Given the description of an element on the screen output the (x, y) to click on. 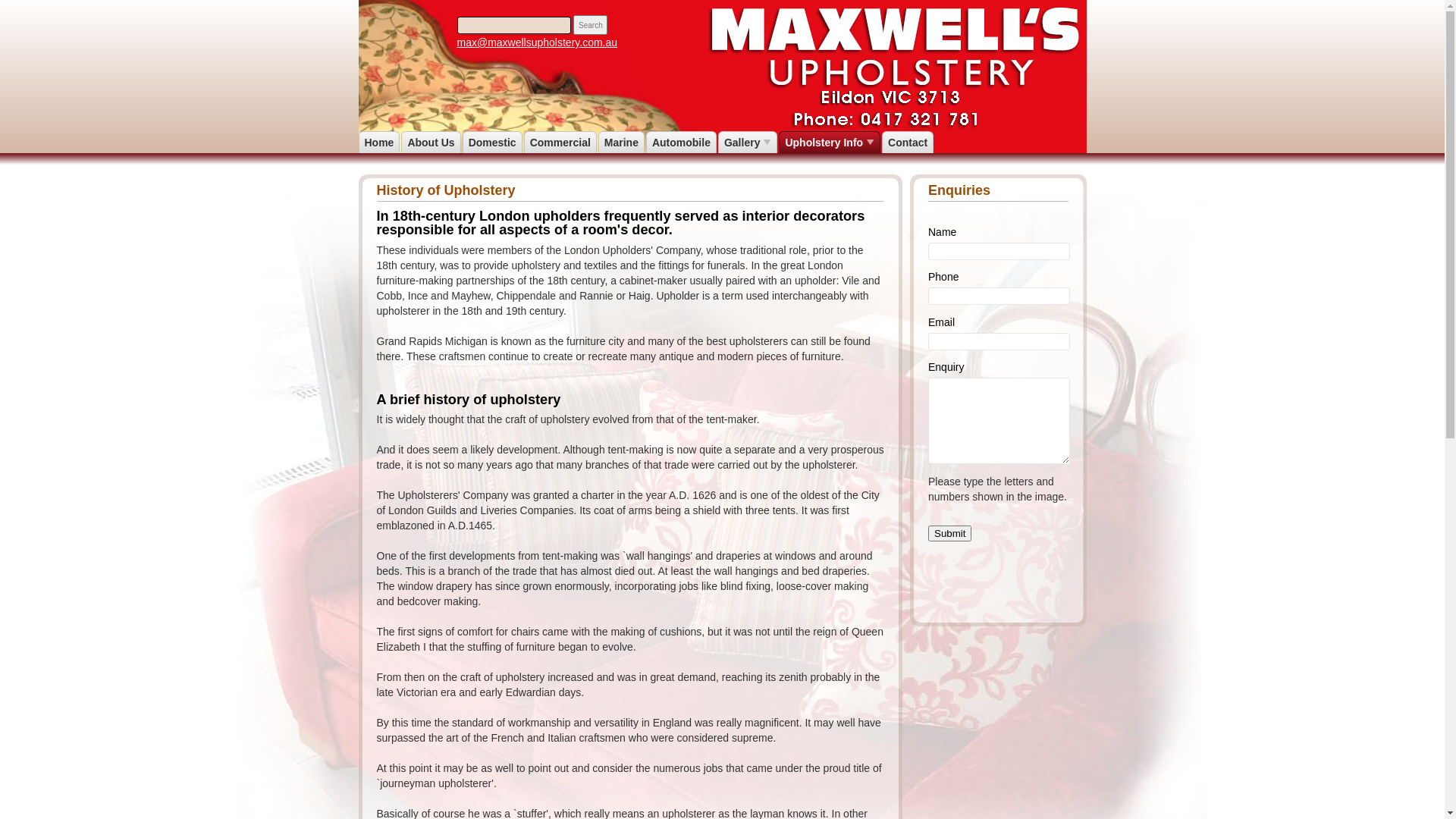
Maxwells Upholstery Element type: text (327, 1)
Domestic Element type: text (492, 142)
Commercial Element type: text (560, 142)
About Us Element type: text (430, 142)
max@maxwellsupholstery.com.au Element type: text (536, 42)
Automobile Element type: text (680, 142)
Marine Element type: text (621, 142)
Gallery Element type: text (747, 142)
Submit Element type: text (949, 533)
Upholstery Info Element type: text (829, 142)
Home Element type: text (379, 142)
Contact Element type: text (907, 142)
Search Element type: text (590, 24)
